Given the description of an element on the screen output the (x, y) to click on. 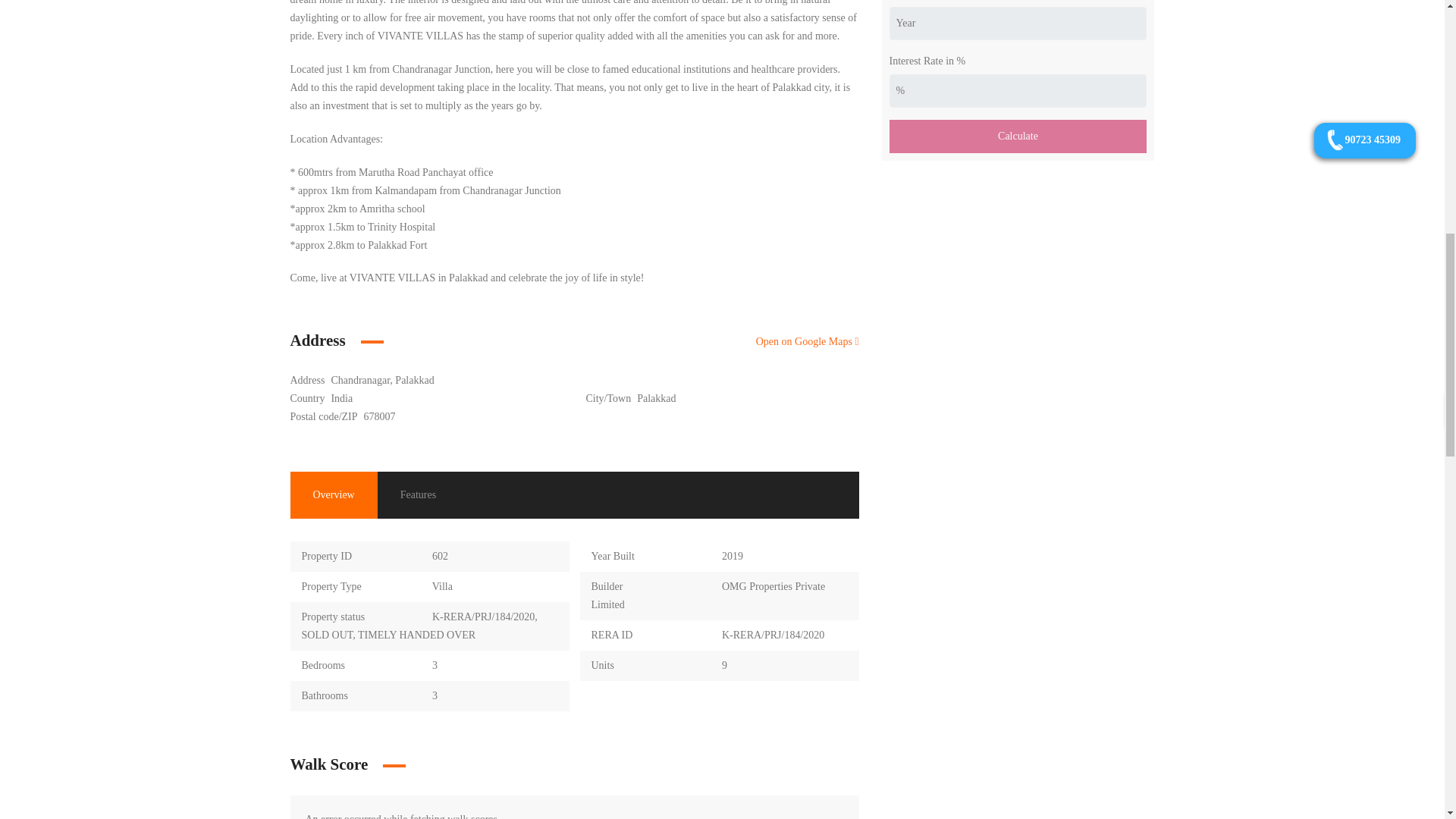
Overview (333, 494)
Palakkad (656, 398)
Villa (442, 586)
Open on Google Maps (807, 341)
Features (417, 494)
